Given the description of an element on the screen output the (x, y) to click on. 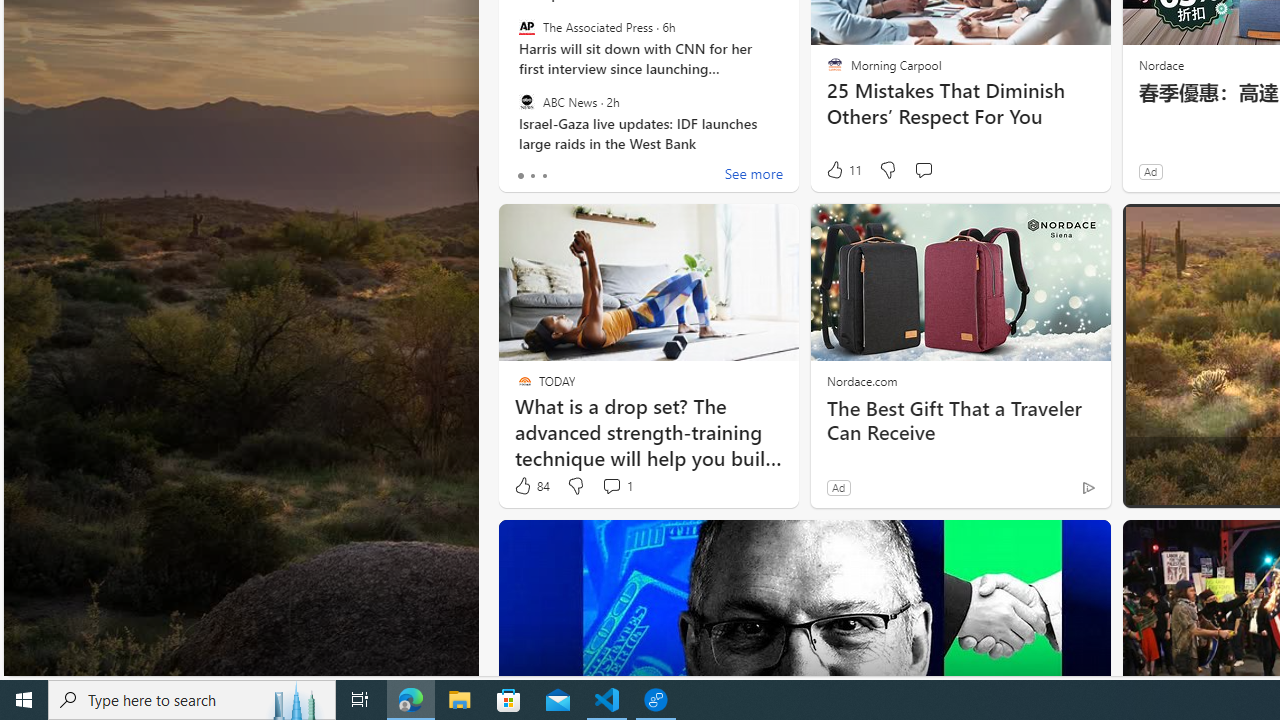
Dislike (1204, 485)
tab-0 (520, 175)
Start the conversation (923, 169)
View comments 1 Comment (616, 485)
View comments 44 Comment (1249, 485)
Nordace (1160, 64)
View comments 44 Comment (1241, 485)
Start the conversation (923, 170)
84 Like (531, 485)
Nordace.com (861, 380)
Ad Choice (1087, 487)
tab-1 (532, 175)
The Best Gift That a Traveler Can Receive (959, 420)
11 Like (843, 170)
